Given the description of an element on the screen output the (x, y) to click on. 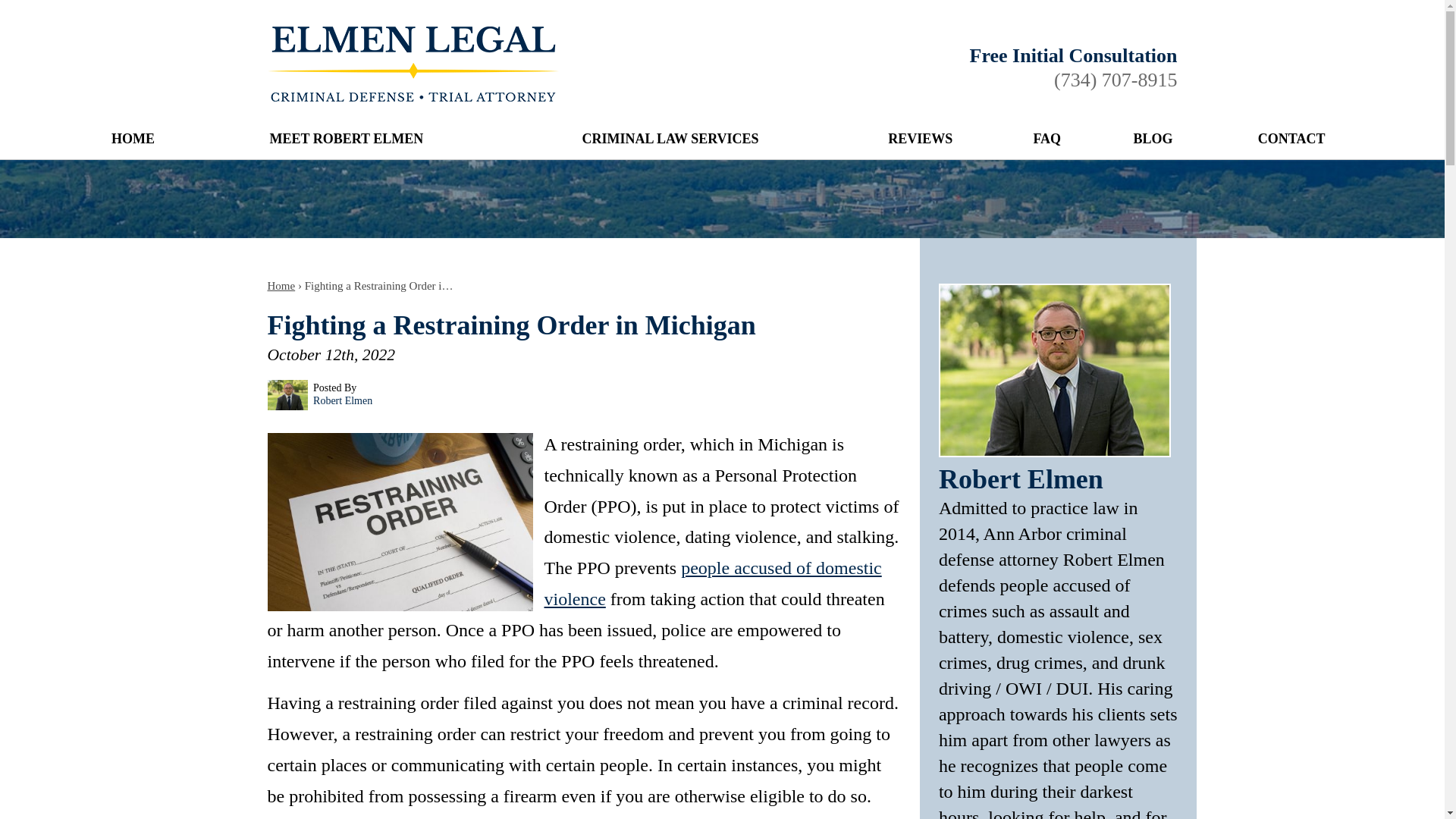
MEET ROBERT ELMEN (346, 139)
View Robert Elmen's Attorney Profile (1054, 451)
FAQ (1046, 139)
HOME (132, 139)
BLOG (1151, 139)
CRIMINAL LAW SERVICES (670, 139)
REVIEWS (919, 139)
View Robert Elmen's Profile (342, 400)
View Robert Elmen's Attorney Profile (1021, 479)
